Given the description of an element on the screen output the (x, y) to click on. 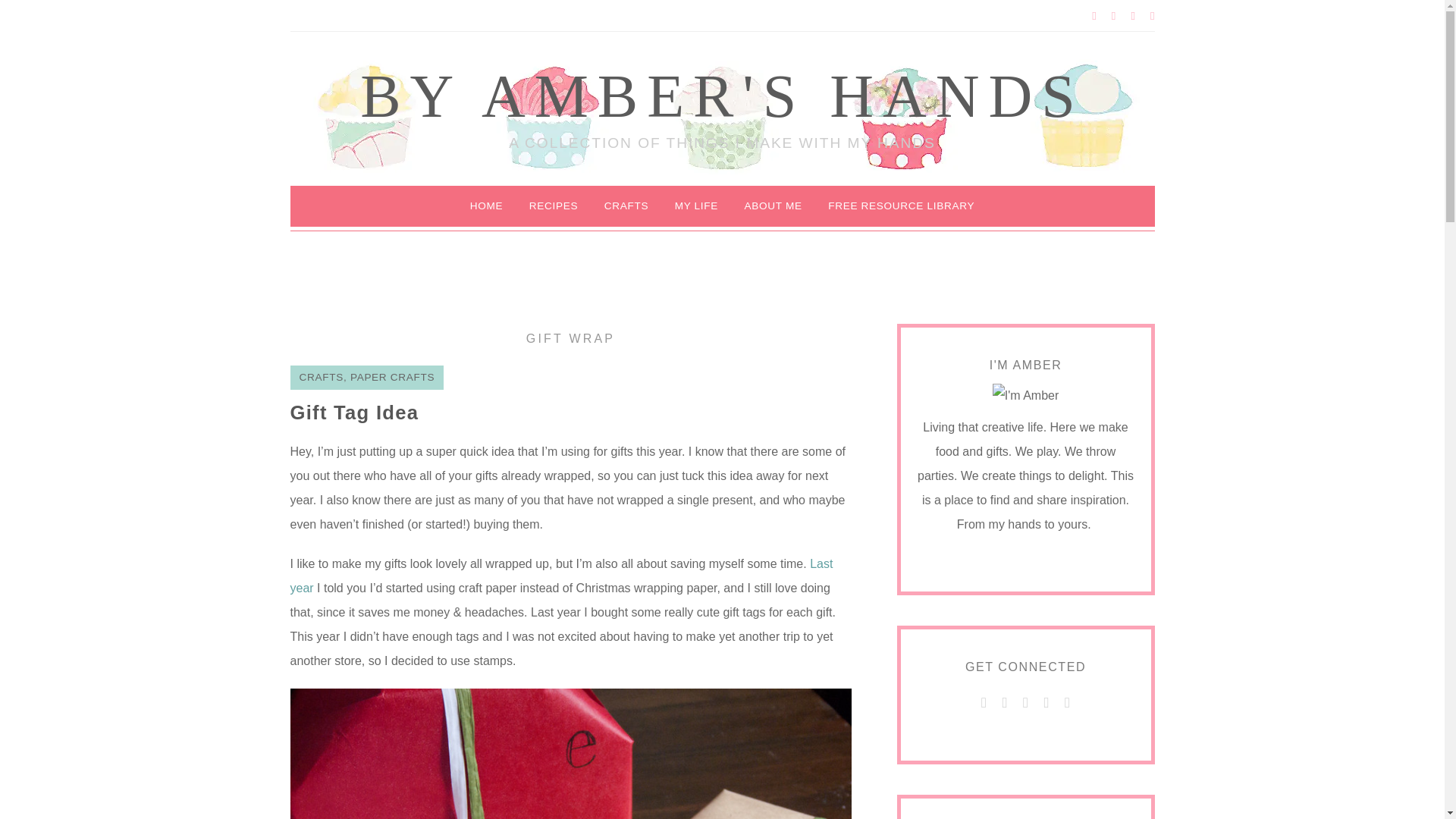
Last year (560, 575)
FREE RESOURCE LIBRARY (900, 205)
BY AMBER'S HANDS (721, 96)
PAPER CRAFTS (391, 377)
CRAFTS (625, 205)
HOME (486, 205)
RECIPES (553, 205)
Gift Tag Idea (354, 412)
ABOUT ME (772, 205)
CRAFTS (320, 377)
